Given the description of an element on the screen output the (x, y) to click on. 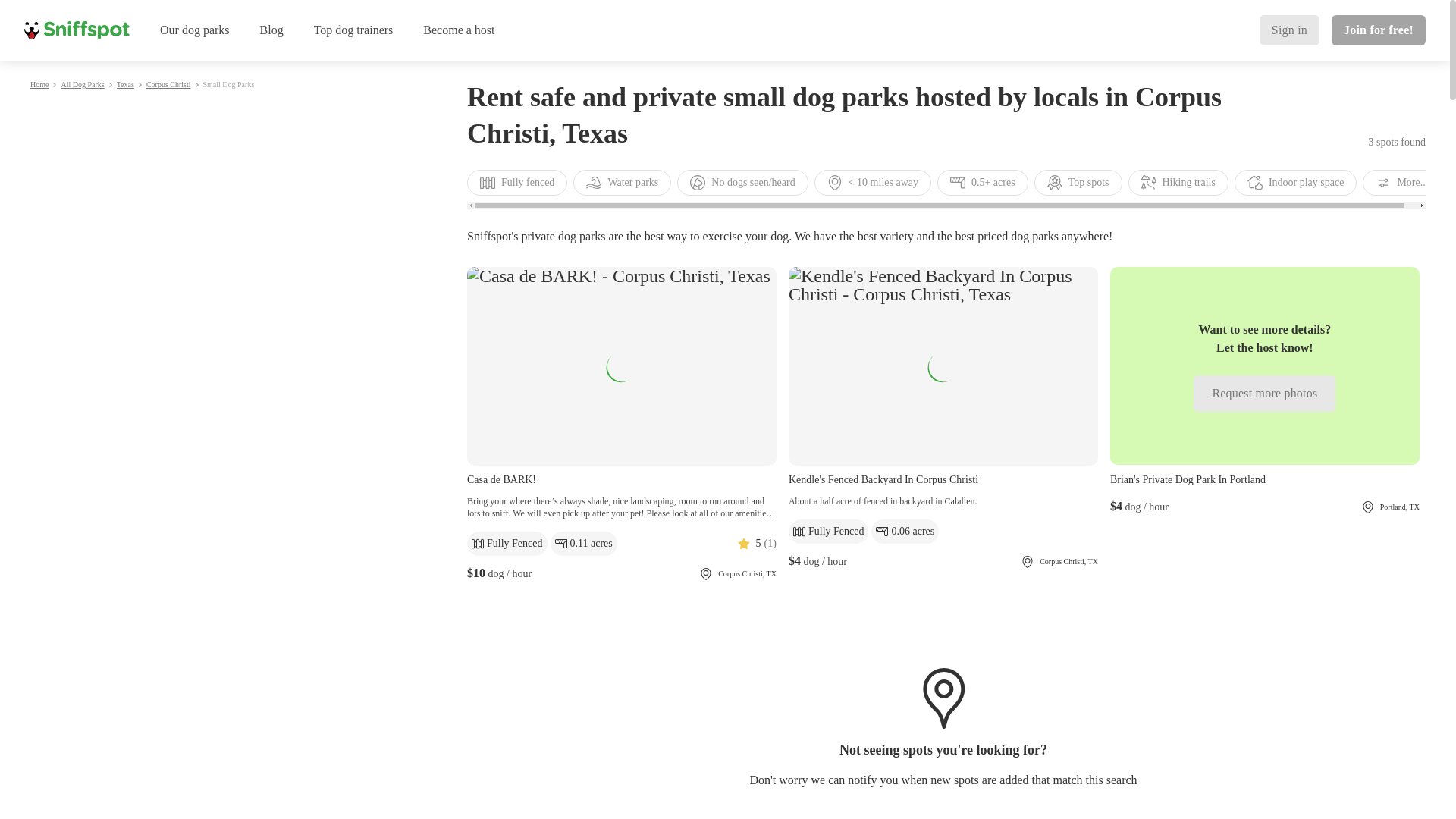
Top dog trainers (353, 30)
Our dog parks (194, 30)
